Given the description of an element on the screen output the (x, y) to click on. 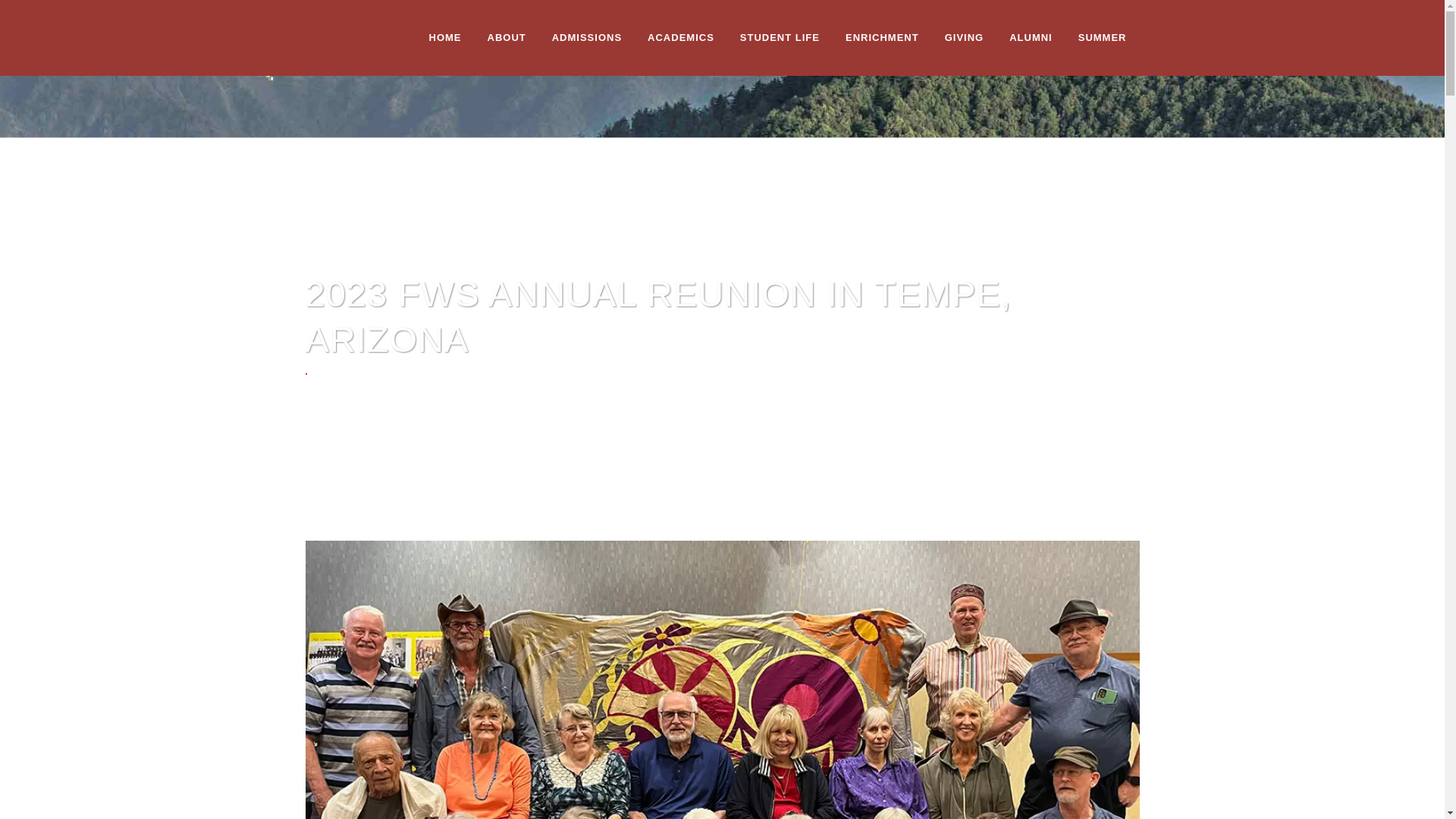
STUDENT LIFE (779, 38)
ADMISSIONS (586, 38)
ACADEMICS (680, 38)
